Given the description of an element on the screen output the (x, y) to click on. 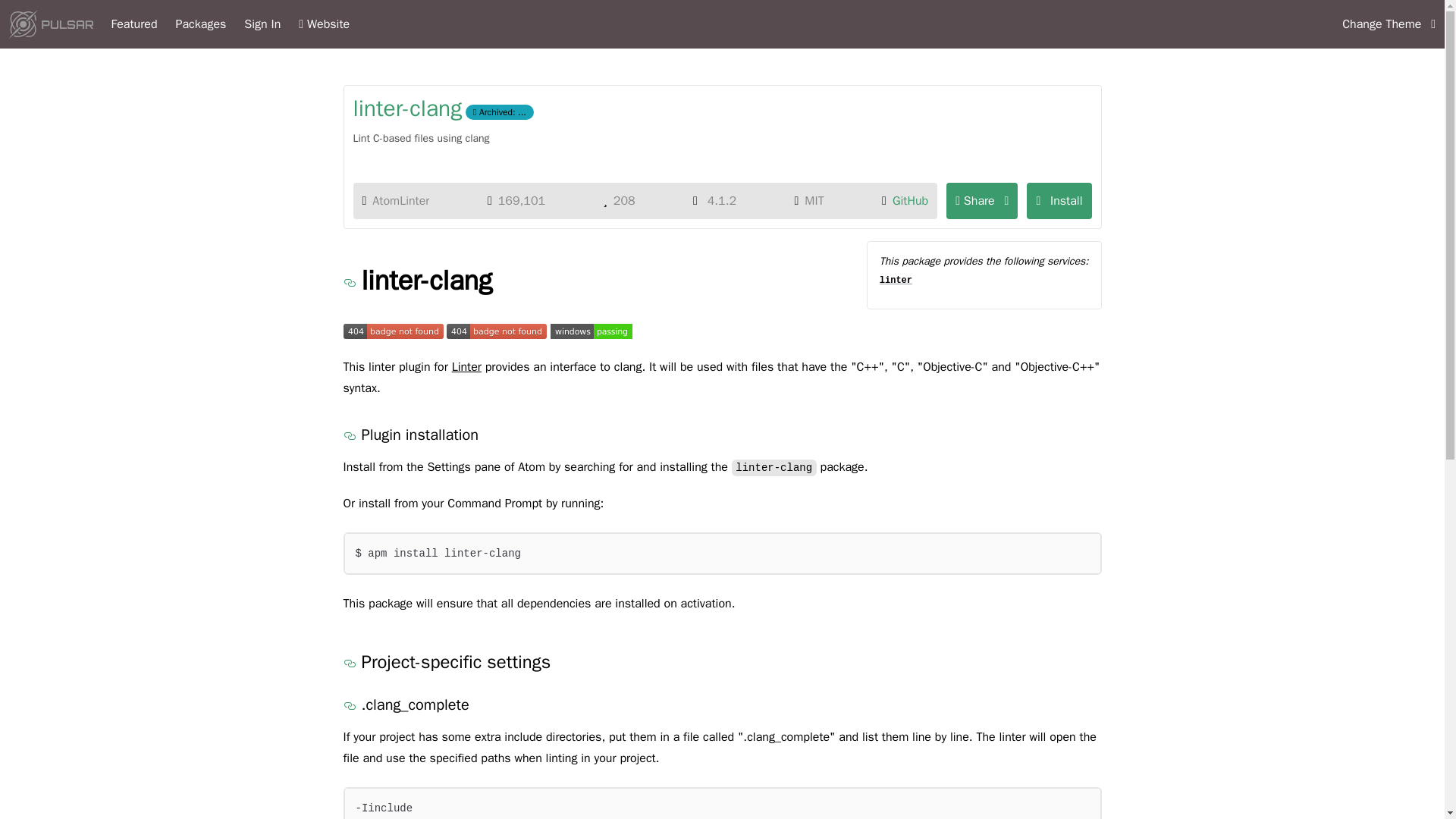
Install (1058, 200)
GitHub (910, 200)
linter-clang (408, 108)
linter (895, 279)
Share (981, 200)
Change Theme (1388, 24)
Featured (133, 24)
Website (323, 24)
Sign In (262, 24)
Linter (466, 366)
